Given the description of an element on the screen output the (x, y) to click on. 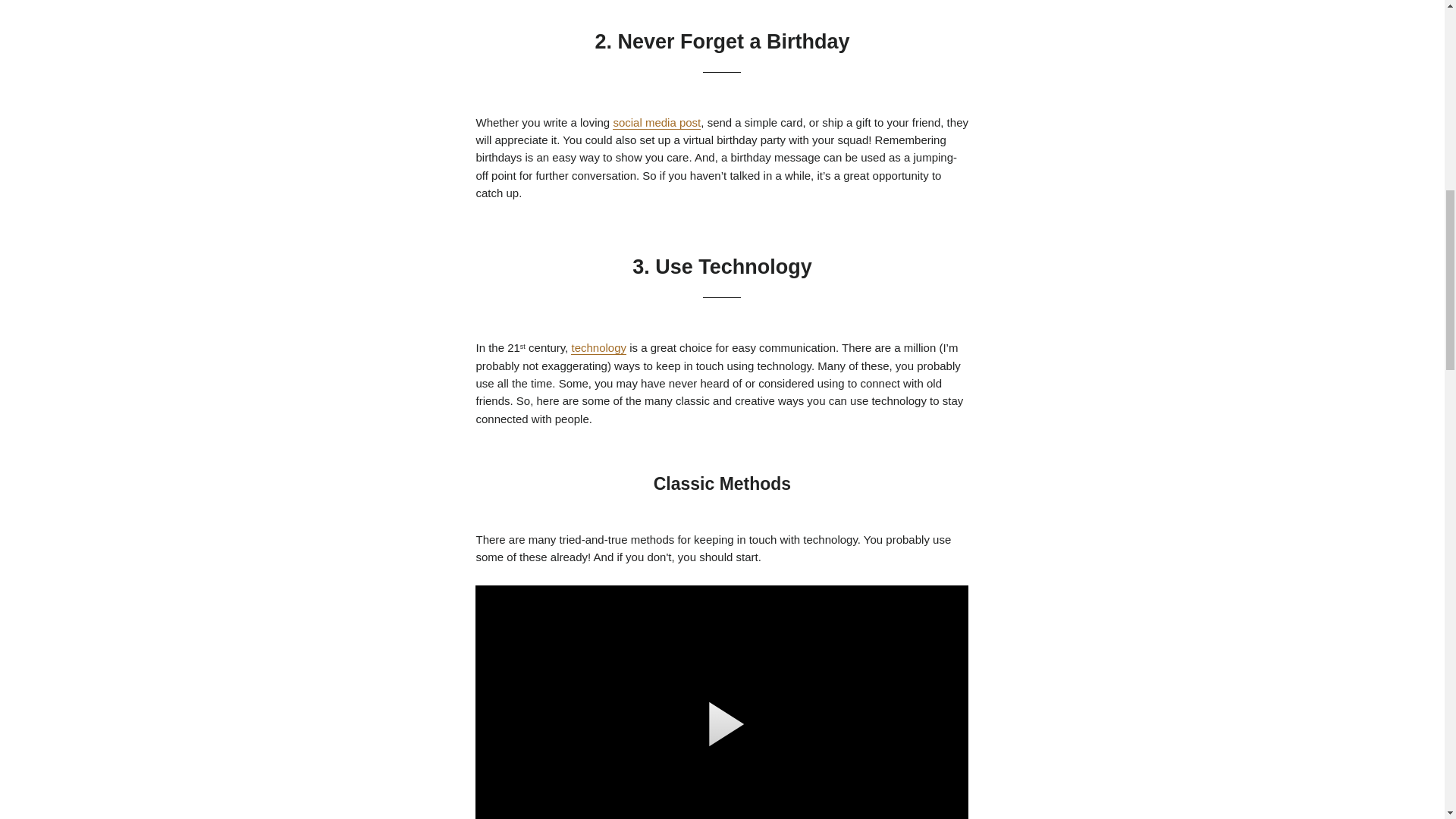
technology (598, 347)
social media post (656, 122)
